Given the description of an element on the screen output the (x, y) to click on. 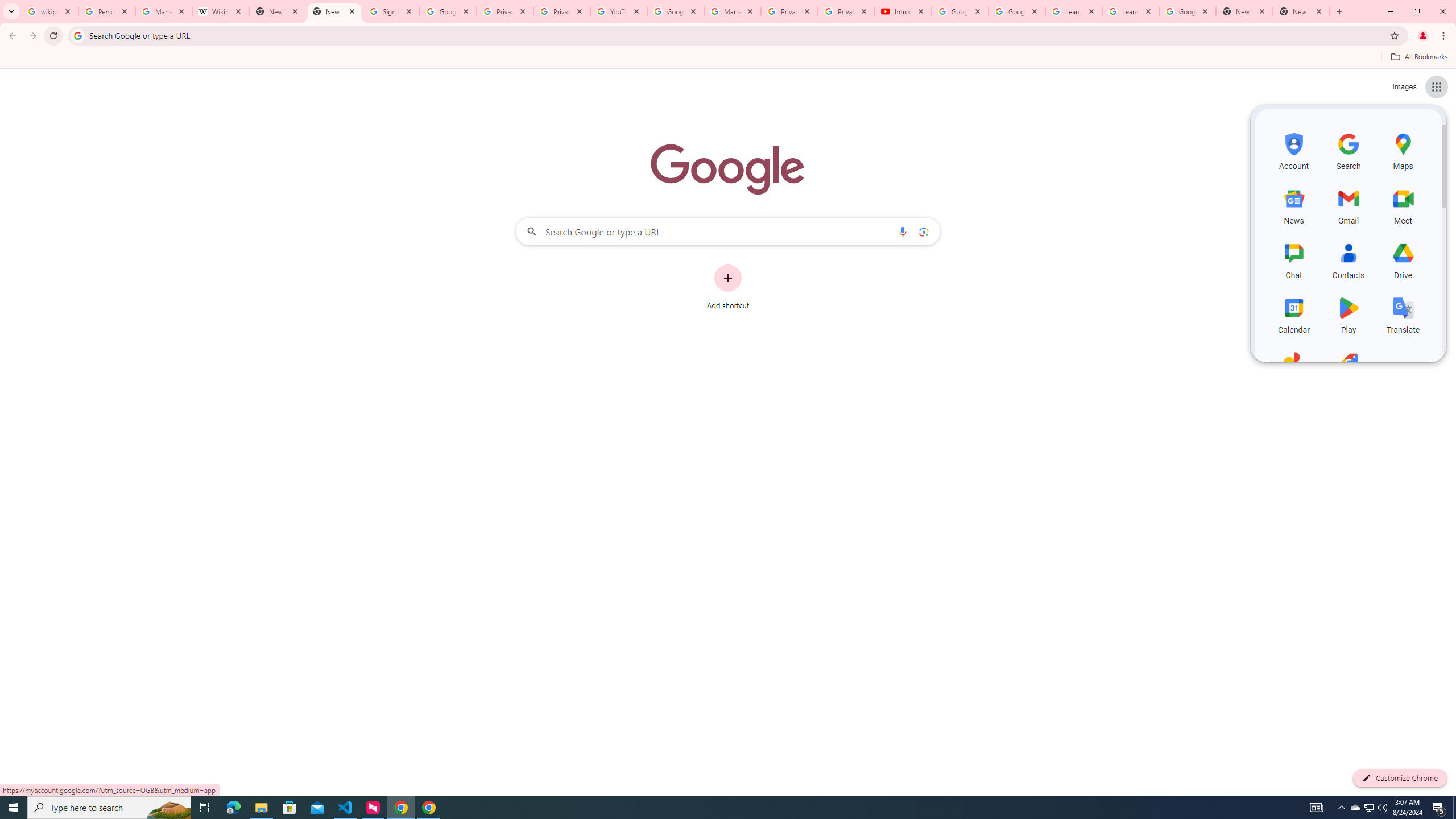
Shopping, row 5 of 5 and column 2 of 3 in the first section (1348, 368)
Play, row 4 of 5 and column 2 of 3 in the first section (1348, 313)
Calendar, row 4 of 5 and column 1 of 3 in the first section (1293, 313)
Search by image (922, 230)
Google Account Help (1015, 11)
Photos, row 5 of 5 and column 1 of 3 in the first section (1293, 368)
Chat, row 3 of 5 and column 1 of 3 in the first section (1293, 259)
New Tab (1244, 11)
New Tab (1301, 11)
